Given the description of an element on the screen output the (x, y) to click on. 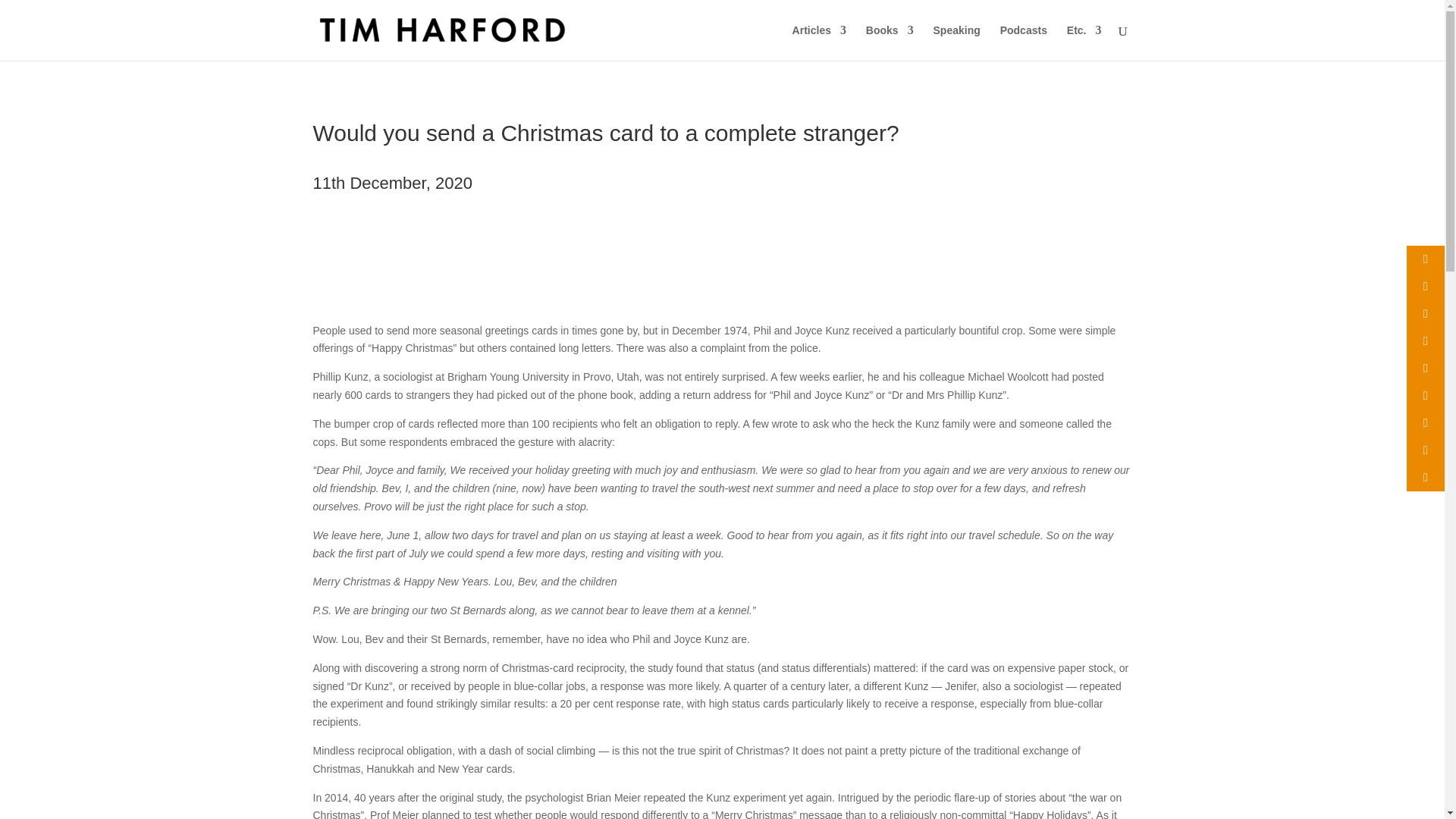
Speaking (956, 42)
Podcasts (1023, 42)
Etc. (1084, 42)
Books (890, 42)
Articles (818, 42)
